Given the description of an element on the screen output the (x, y) to click on. 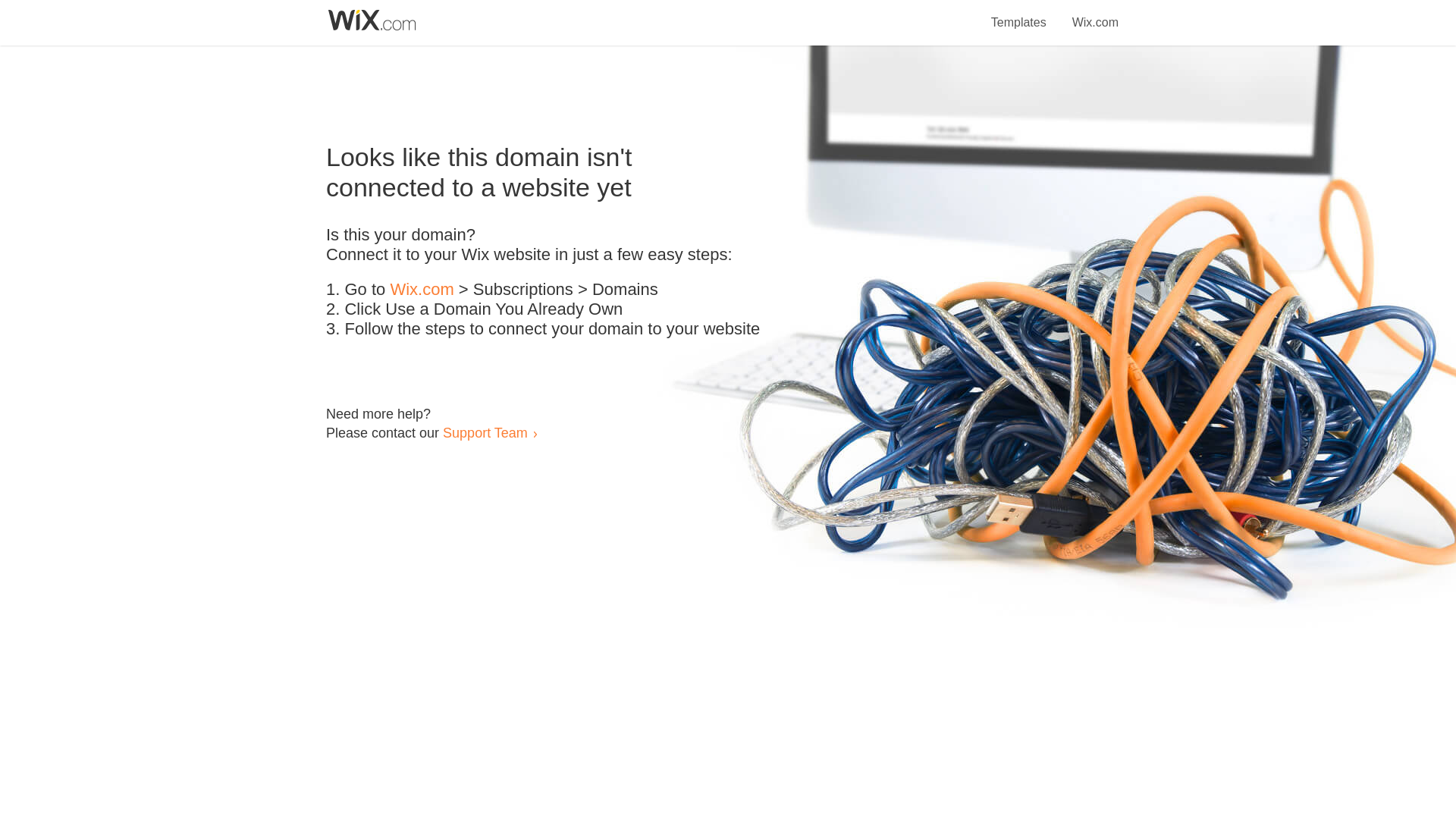
Wix.com (1095, 14)
Support Team (484, 432)
Templates (1018, 14)
Wix.com (421, 289)
